Given the description of an element on the screen output the (x, y) to click on. 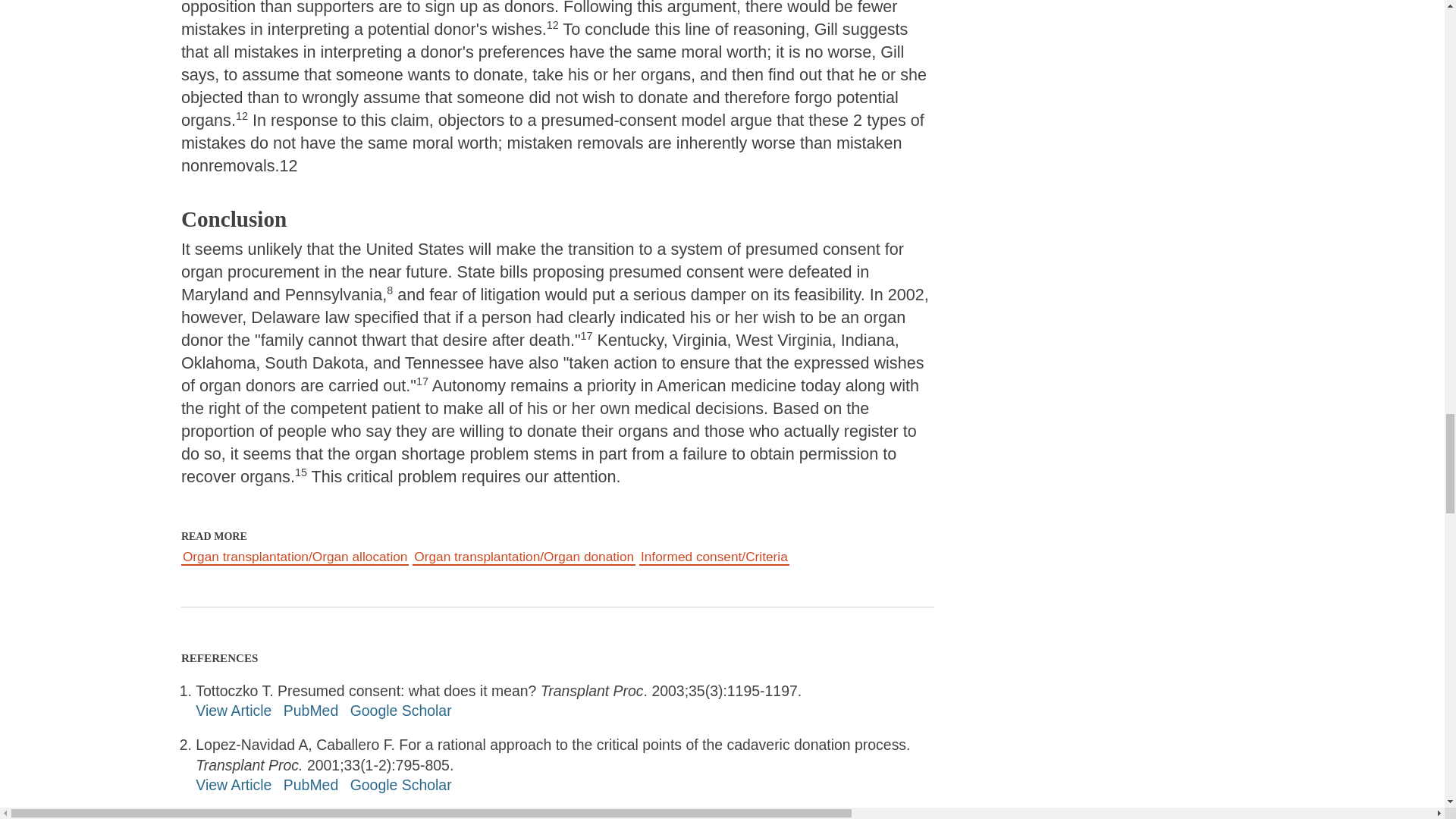
PubMed (310, 710)
View Article (232, 710)
